Given the description of an element on the screen output the (x, y) to click on. 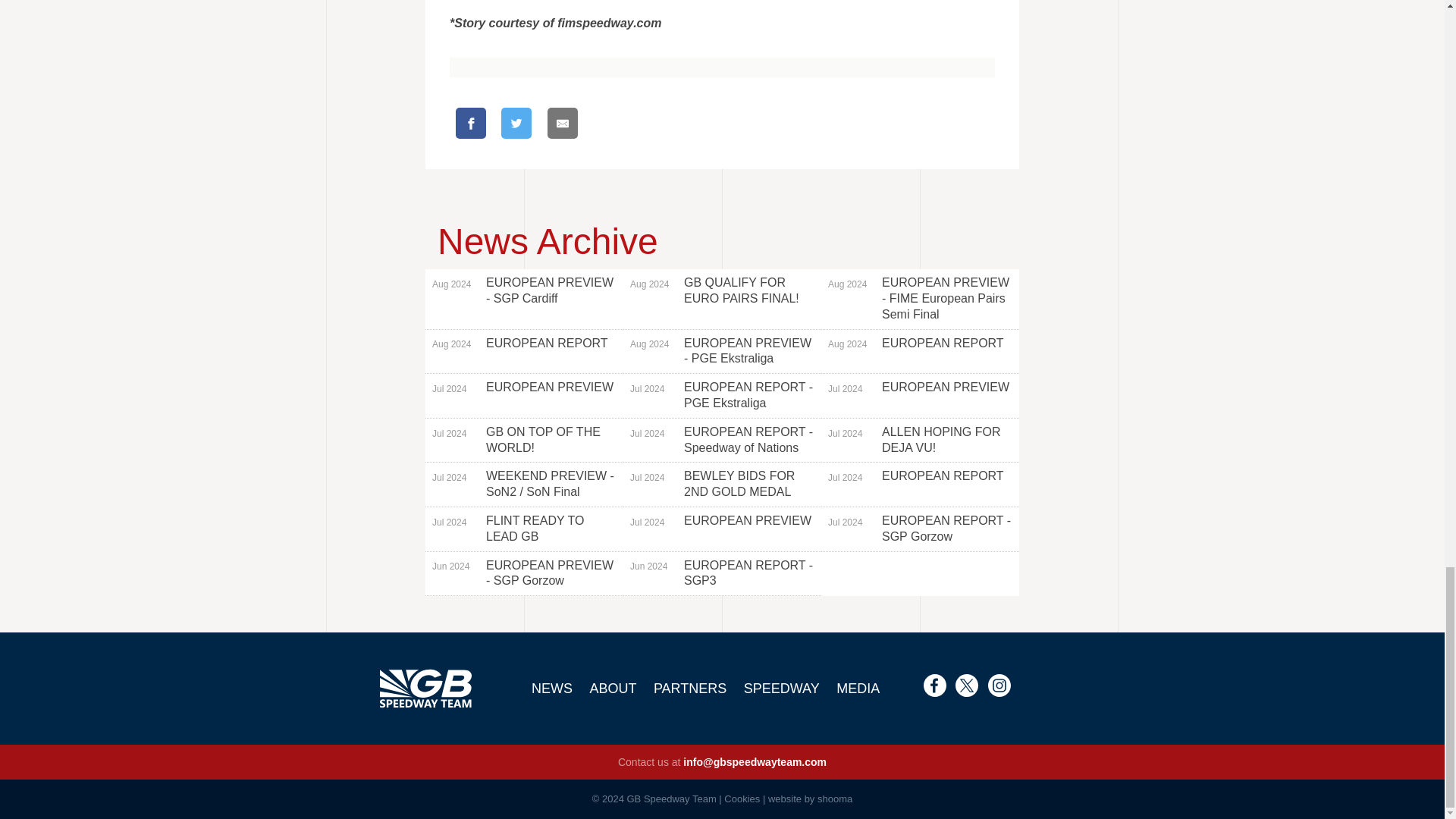
NEWS (920, 352)
